Given the description of an element on the screen output the (x, y) to click on. 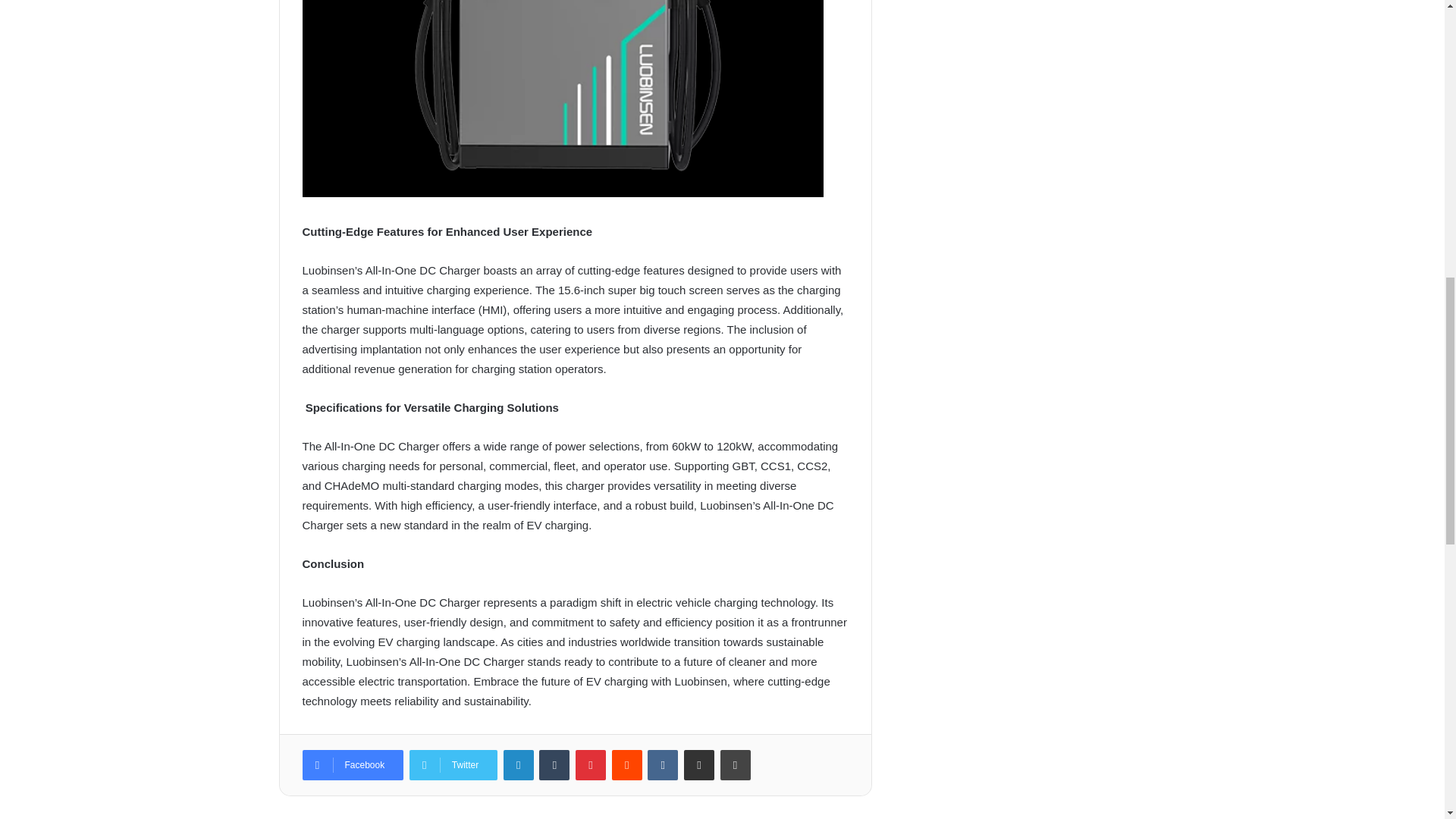
VKontakte (662, 765)
LinkedIn (518, 765)
Print (735, 765)
Facebook (352, 765)
Twitter (453, 765)
Pinterest (590, 765)
Pinterest (590, 765)
VKontakte (662, 765)
Share via Email (699, 765)
Share via Email (699, 765)
